Given the description of an element on the screen output the (x, y) to click on. 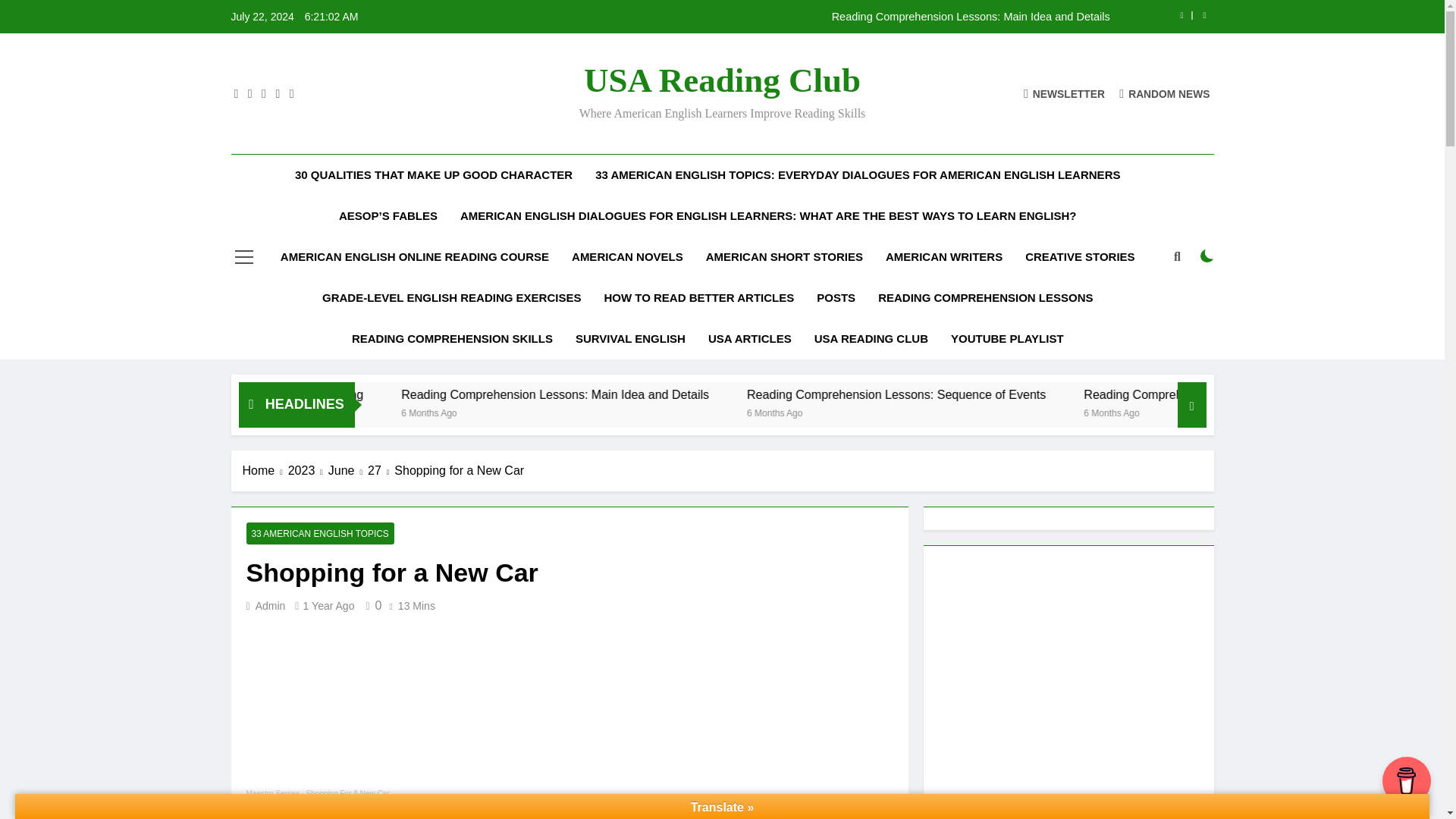
USA Reading Club (721, 80)
Reading Comprehension Lessons: Main Idea and Details (817, 16)
Reading Comprehension Lessons: Main Idea and Details (709, 394)
READING COMPREHENSION LESSONS (984, 297)
SURVIVAL ENGLISH (630, 338)
AMERICAN ENGLISH ONLINE READING COURSE (414, 256)
Reading Comprehension Lessons: Main Idea and Details (817, 16)
CREATIVE STORIES (1079, 256)
POSTS (835, 297)
GRADE-LEVEL ENGLISH READING EXERCISES (451, 297)
Reading Comprehension Lessons: Summarizing (390, 394)
AMERICAN WRITERS (944, 256)
HOW TO READ BETTER ARTICLES (698, 297)
30 QUALITIES THAT MAKE UP GOOD CHARACTER (433, 174)
